Given the description of an element on the screen output the (x, y) to click on. 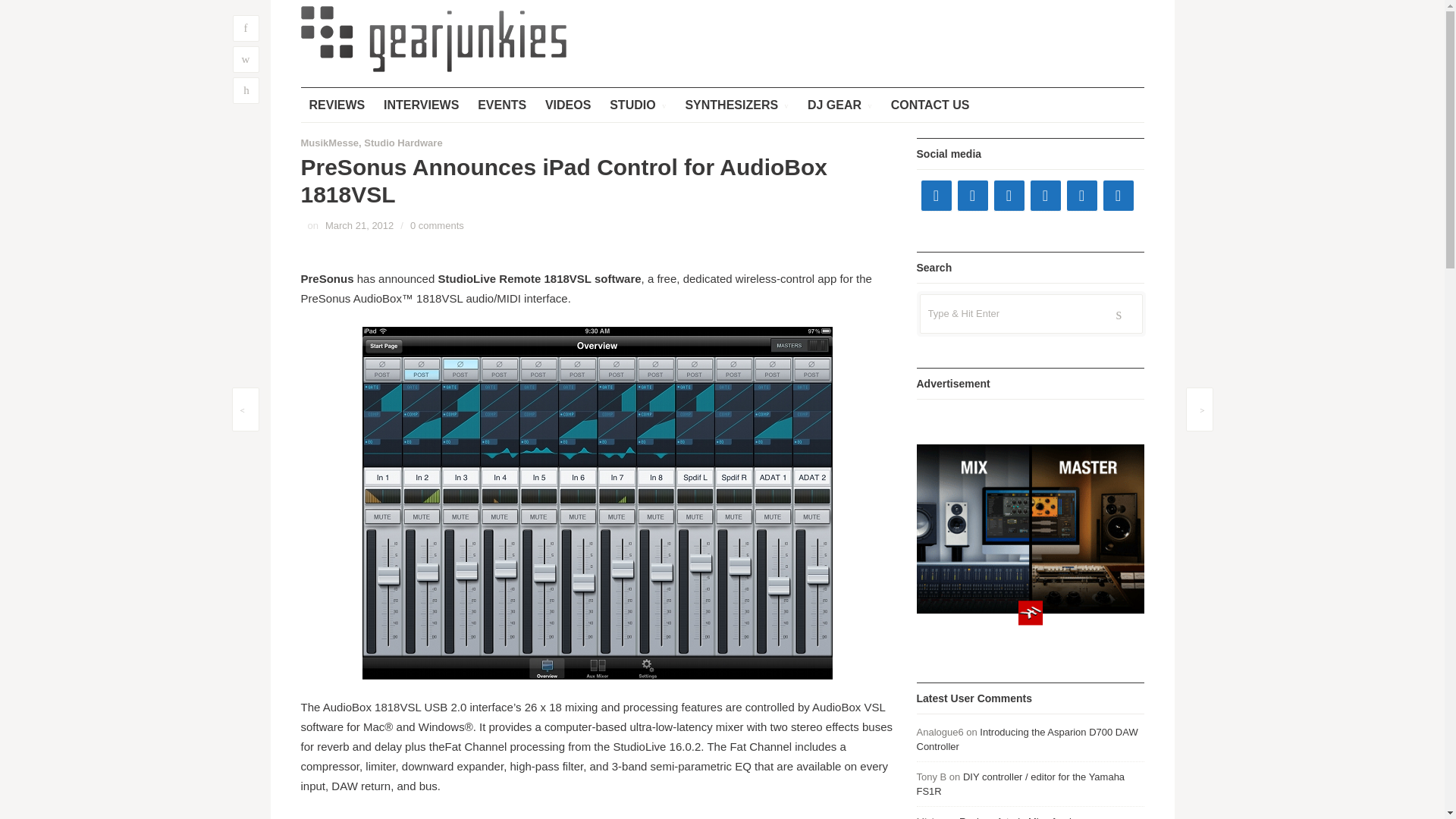
MusikMesse (328, 142)
Facebook (935, 195)
REVIEWS (335, 104)
Studio Hardware (403, 142)
YouTube (1007, 195)
March 21, 2012 (358, 225)
f (245, 28)
CONTACT US (930, 104)
Twitter (971, 195)
